Given the description of an element on the screen output the (x, y) to click on. 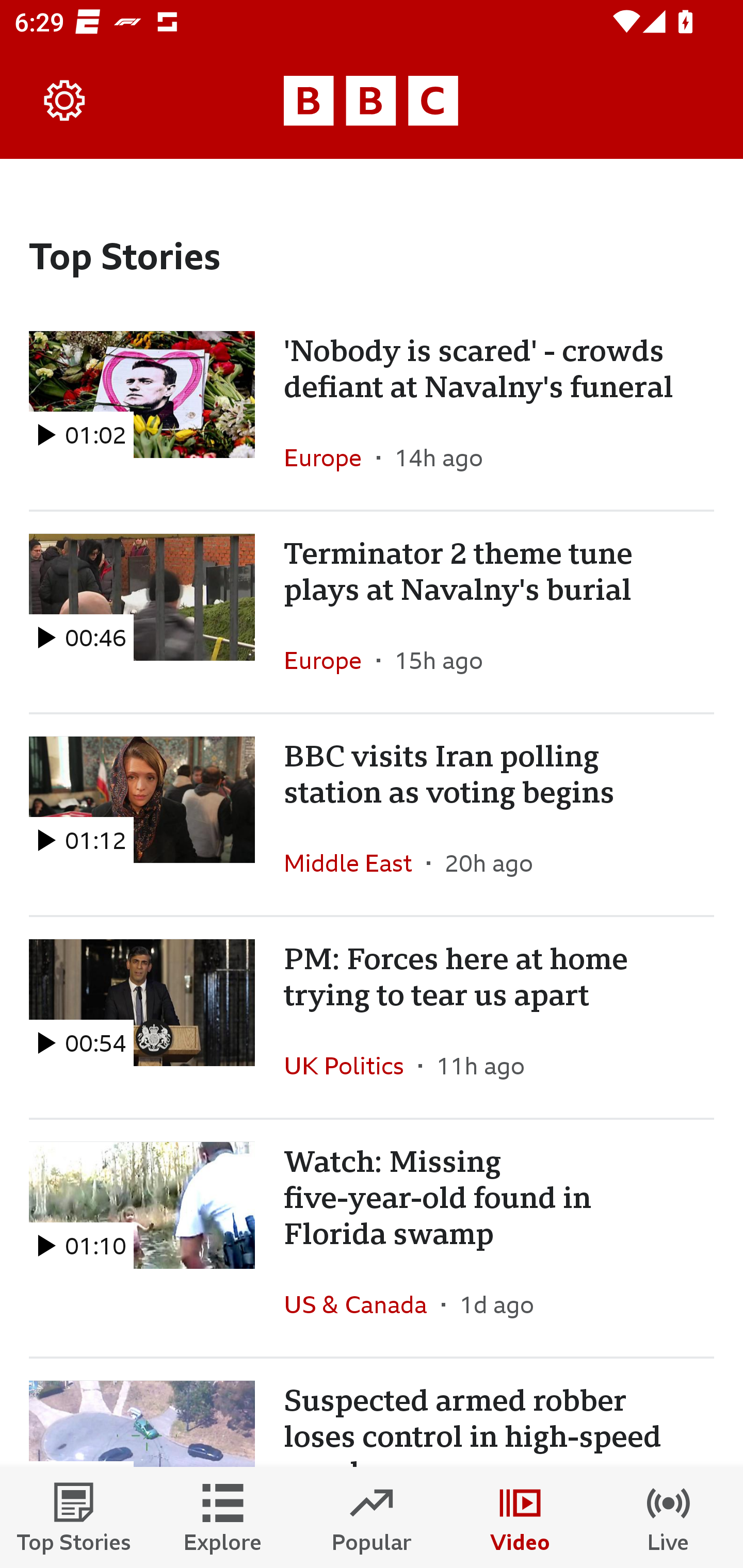
Settings (64, 100)
Europe In the section Europe (329, 457)
Europe In the section Europe (329, 659)
Middle East In the section Middle East (354, 862)
UK Politics In the section UK Politics (350, 1064)
US & Canada In the section US & Canada (362, 1304)
Top Stories (74, 1517)
Explore (222, 1517)
Popular (371, 1517)
Live (668, 1517)
